Given the description of an element on the screen output the (x, y) to click on. 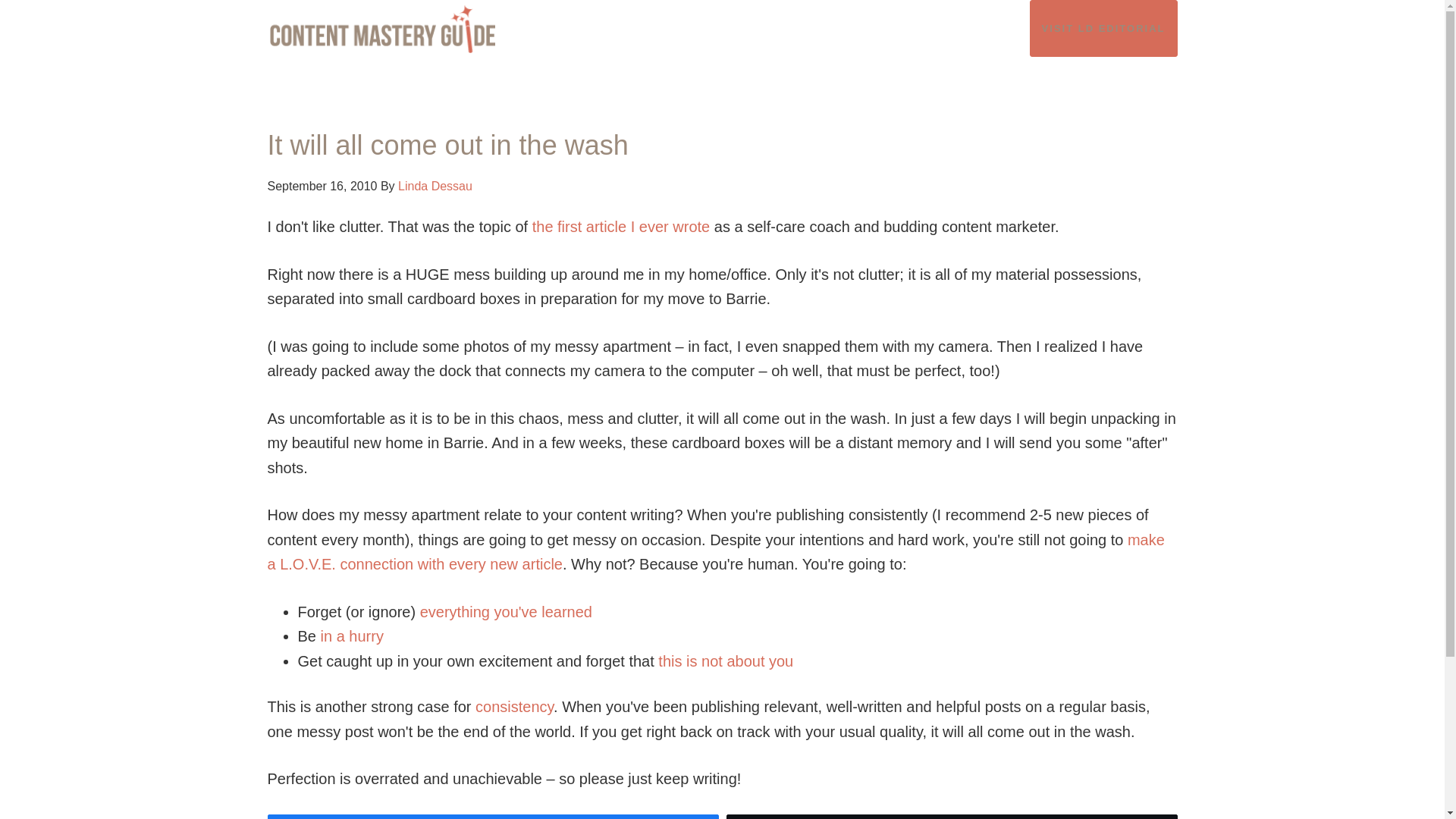
everything you've learned (506, 611)
consistency (514, 706)
this is not about you (725, 660)
Content Mastery Guide (403, 28)
VISIT LD EDITORIAL (1103, 28)
make a L.O.V.E. connection with every new article (714, 552)
the first article I ever wrote (621, 226)
Linda Dessau (434, 185)
in a hurry (352, 636)
